Given the description of an element on the screen output the (x, y) to click on. 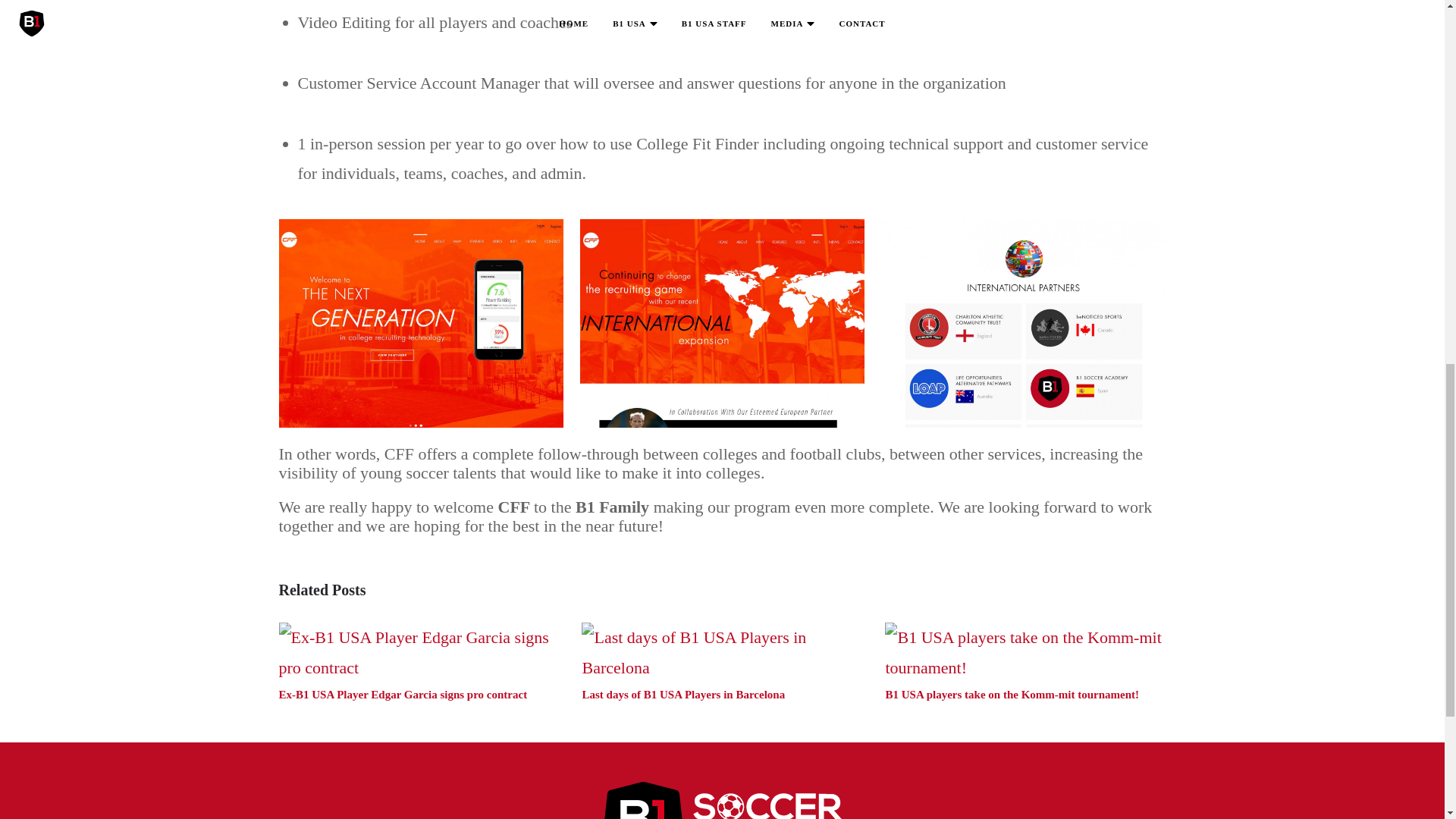
Last days of B1 USA Players in Barcelona (682, 694)
Ex-B1 USA Player Edgar Garcia signs pro contract (419, 653)
B1 USA players take on the Komm-mit tournament! (1011, 694)
B1 USA players take on the Komm-mit tournament! (1011, 694)
Last days of B1 USA Players in Barcelona (682, 694)
Ex-B1 USA Player Edgar Garcia signs pro contract (403, 694)
B1 USA players take on the Komm-mit tournament! (1025, 653)
Last days of B1 USA Players in Barcelona (720, 653)
Ex-B1 USA Player Edgar Garcia signs pro contract (403, 694)
